Given the description of an element on the screen output the (x, y) to click on. 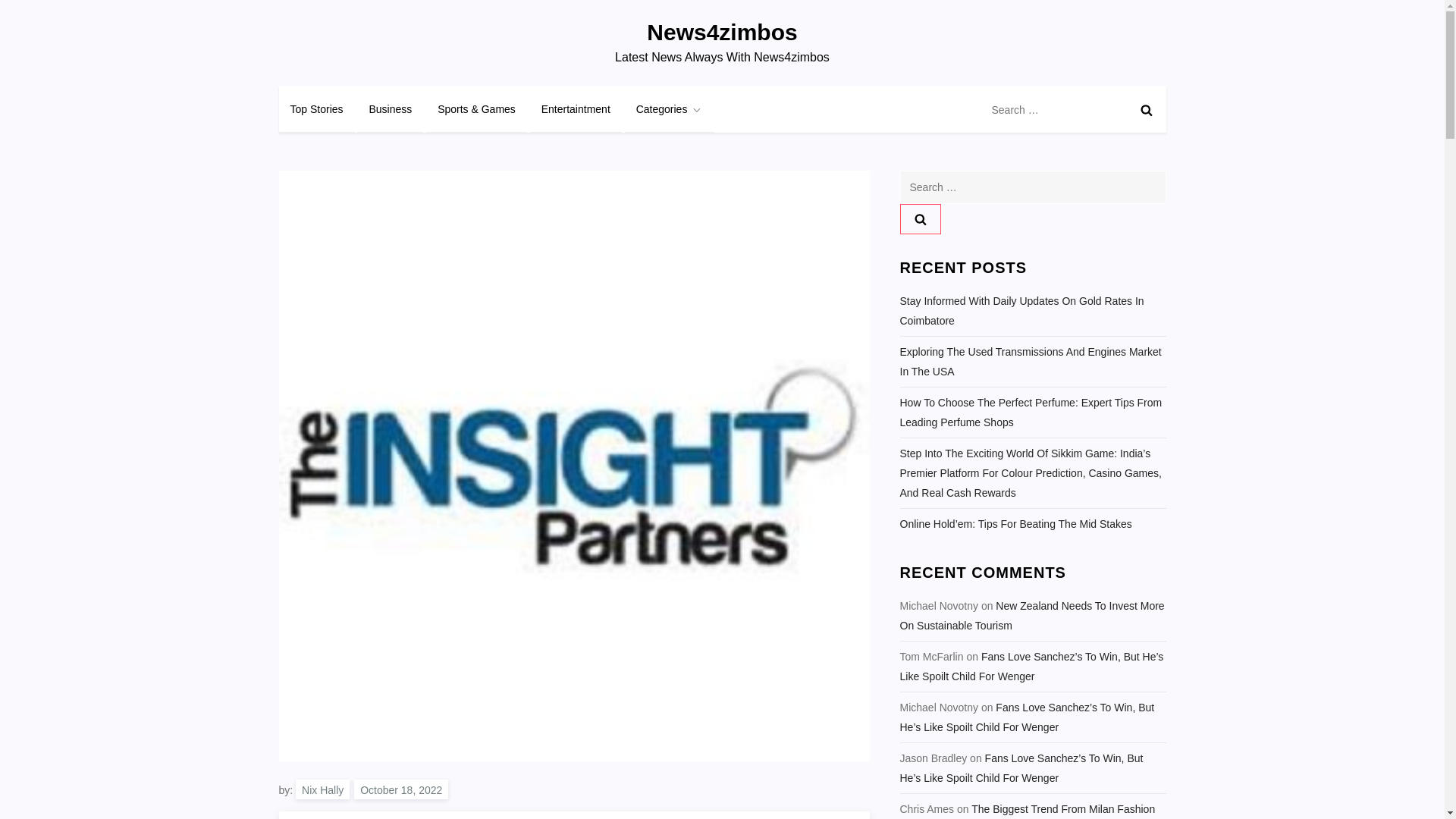
Nix Hally (322, 789)
Stay Informed With Daily Updates On Gold Rates In Coimbatore (1032, 310)
October 18, 2022 (400, 789)
News4zimbos (721, 32)
Search (919, 218)
Business (389, 108)
Entertaintment (575, 108)
Top Stories (317, 108)
